Given the description of an element on the screen output the (x, y) to click on. 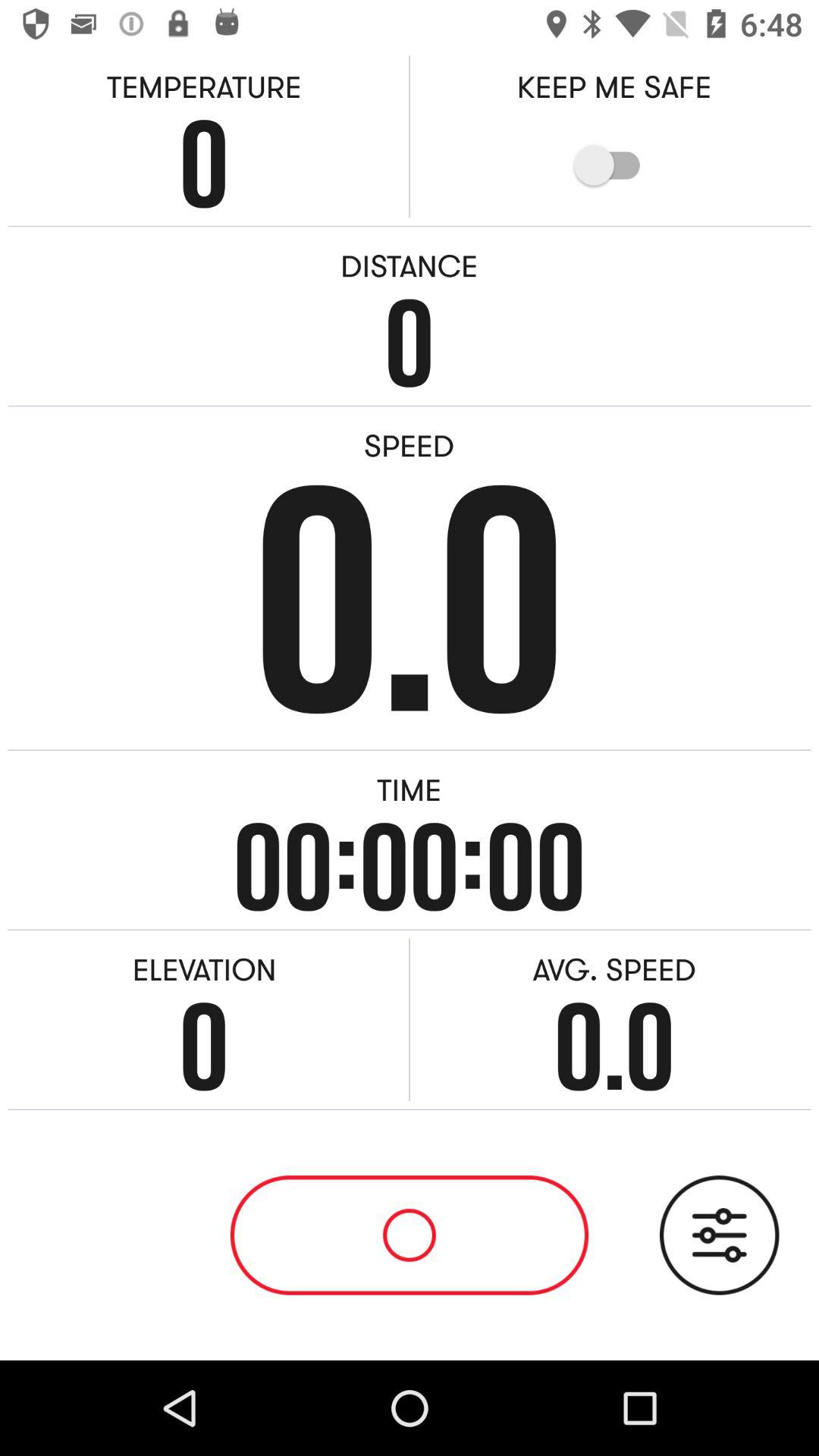
record the audio (719, 1235)
